Given the description of an element on the screen output the (x, y) to click on. 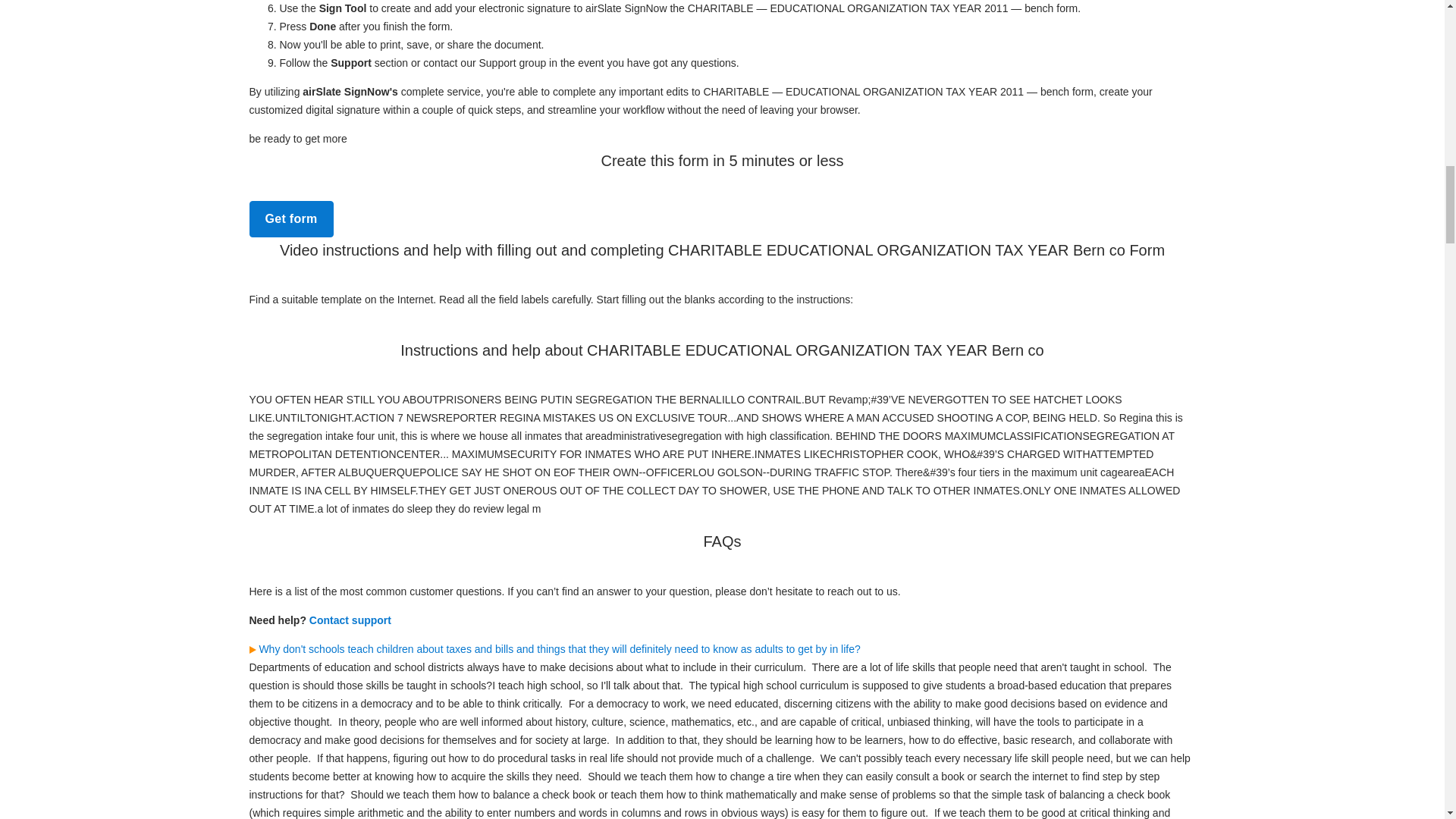
Contact support (349, 619)
Get form (290, 218)
